Given the description of an element on the screen output the (x, y) to click on. 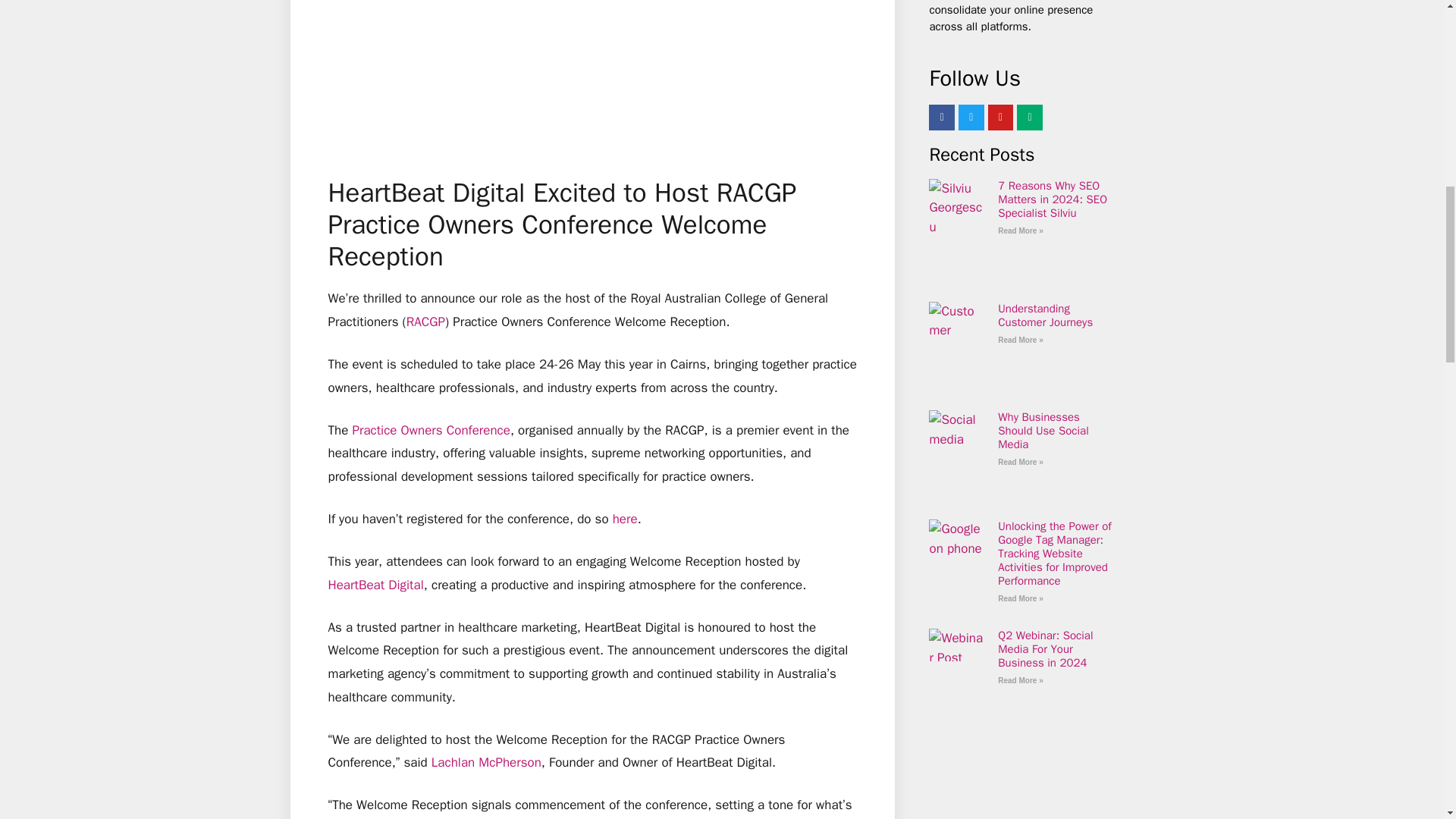
here (624, 519)
Practice Owners Conference (430, 430)
RACGP (425, 321)
Lachlan McPherson (485, 762)
HeartBeat Digital (375, 584)
